Given the description of an element on the screen output the (x, y) to click on. 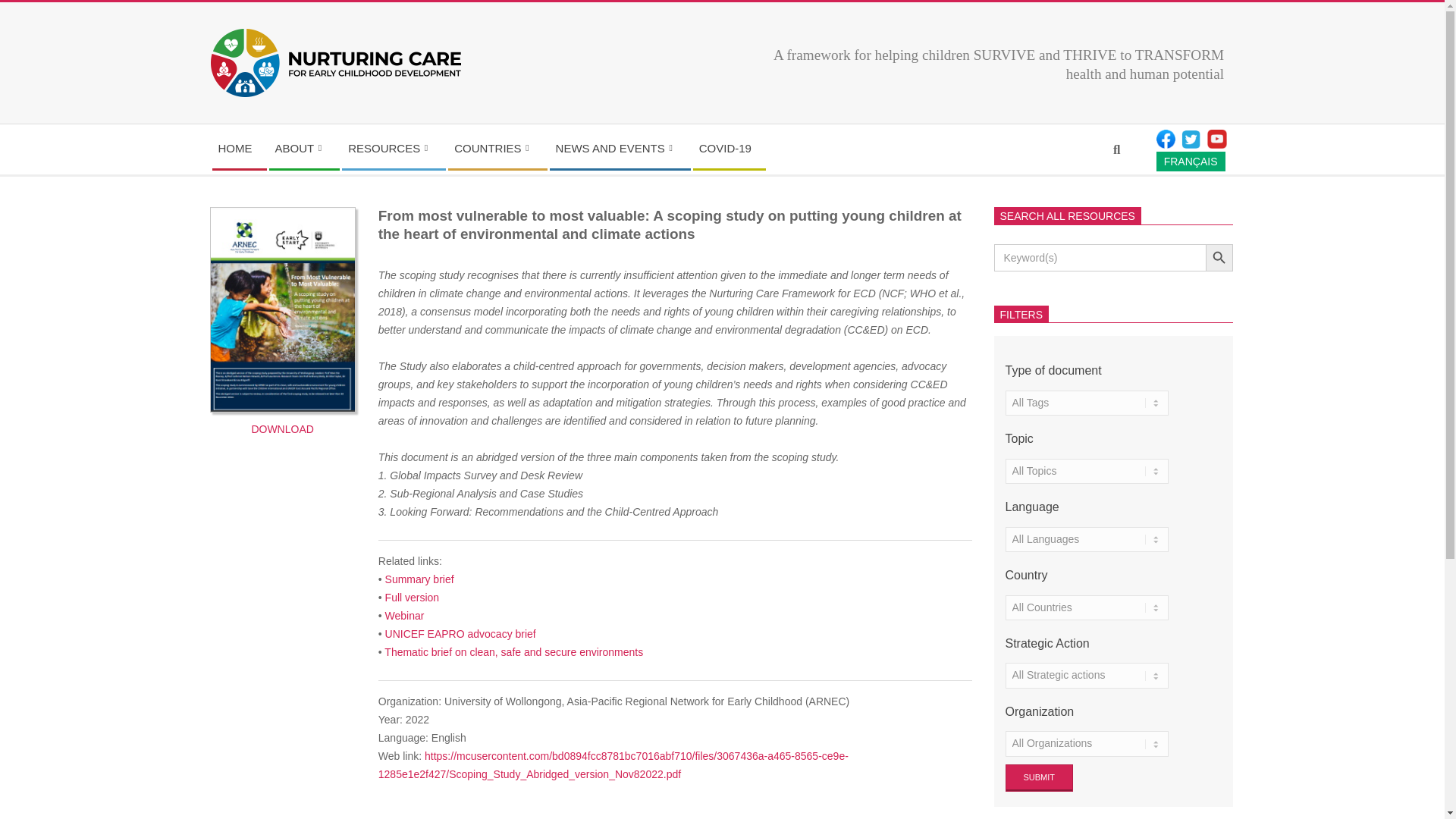
Thematic brief on clean, safe and secure environments (513, 652)
Webinar (405, 615)
COUNTRIES (496, 149)
UNICEF EAPRO advocacy brief (460, 633)
Search (17, 7)
COVID-19 (729, 149)
Submit (612, 149)
Full version (1040, 777)
HOME (412, 597)
RESOURCES (239, 149)
NEWS AND EVENTS (393, 149)
Summary brief (619, 149)
ABOUT (419, 579)
